Given the description of an element on the screen output the (x, y) to click on. 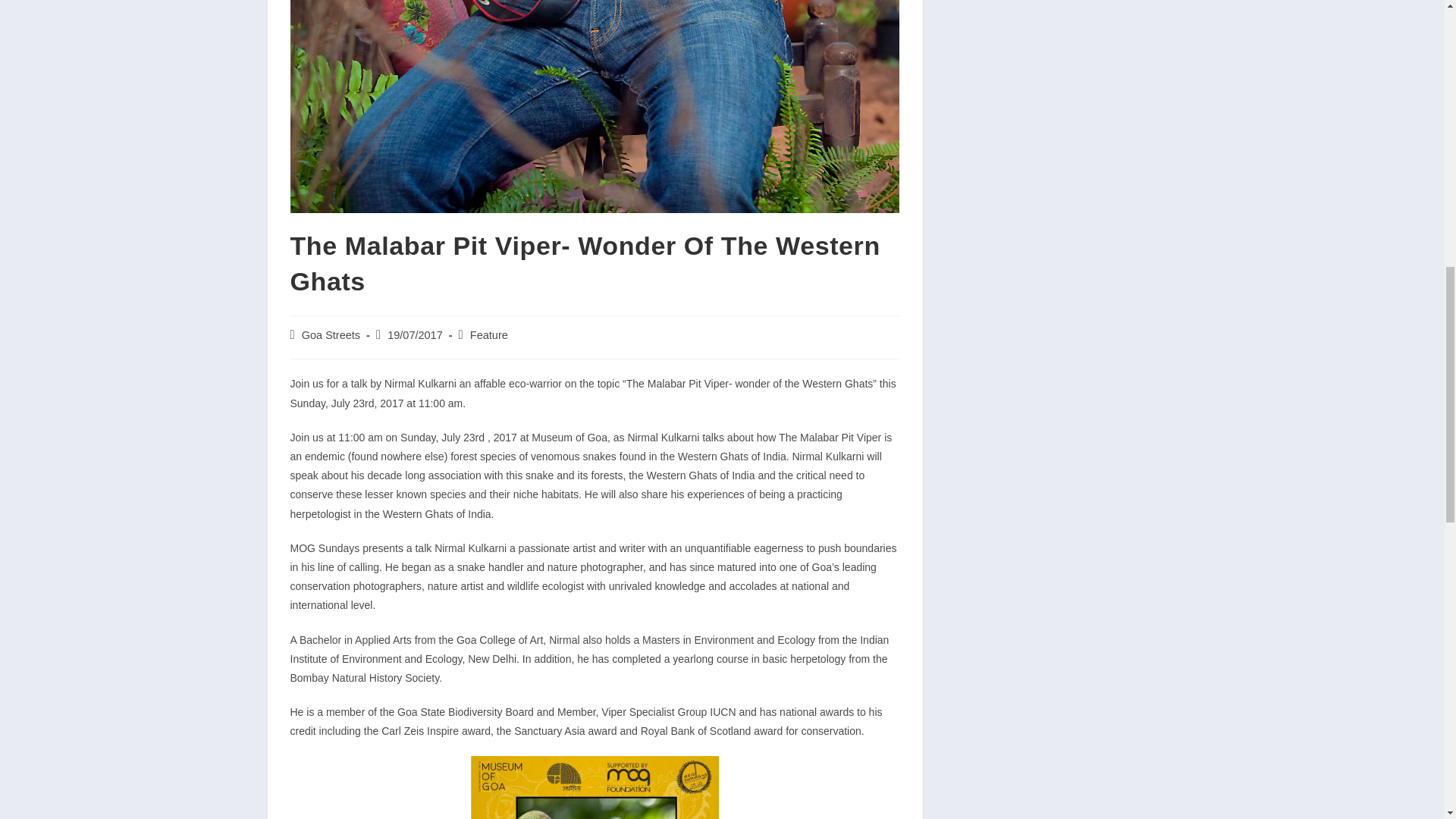
Posts by Goa Streets (330, 335)
